Given the description of an element on the screen output the (x, y) to click on. 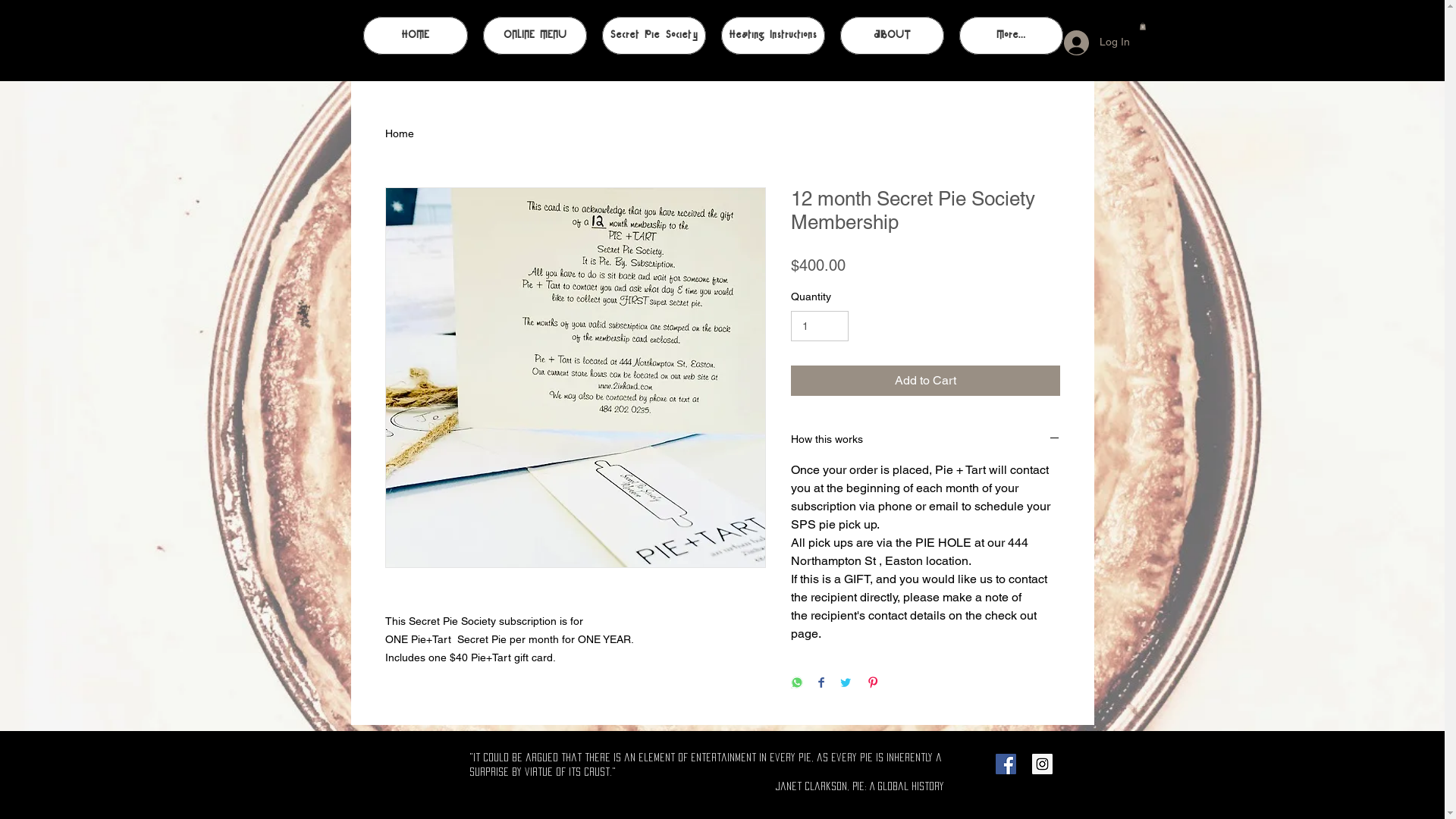
Secret Pie Society Element type: text (654, 35)
ONLINE MENU Element type: text (534, 35)
Add to Cart Element type: text (924, 380)
ABOUT Element type: text (892, 35)
Log In Element type: text (1087, 42)
Heating Instructions Element type: text (772, 35)
How this works Element type: text (924, 440)
0 Element type: text (1142, 26)
HOME Element type: text (414, 35)
Home Element type: text (399, 133)
